Given the description of an element on the screen output the (x, y) to click on. 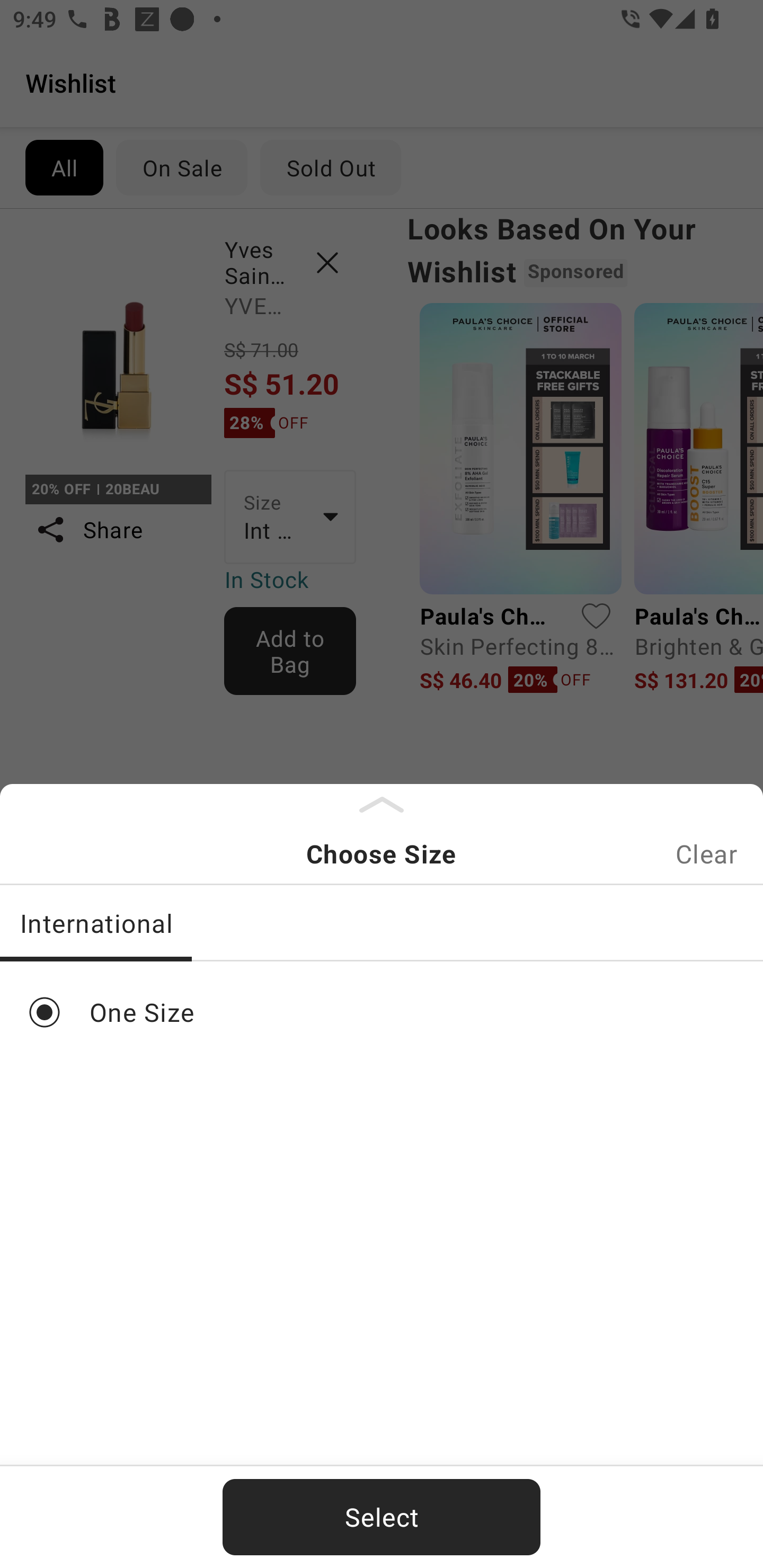
Clear (706, 852)
One Size (381, 1011)
Select (381, 1516)
